Given the description of an element on the screen output the (x, y) to click on. 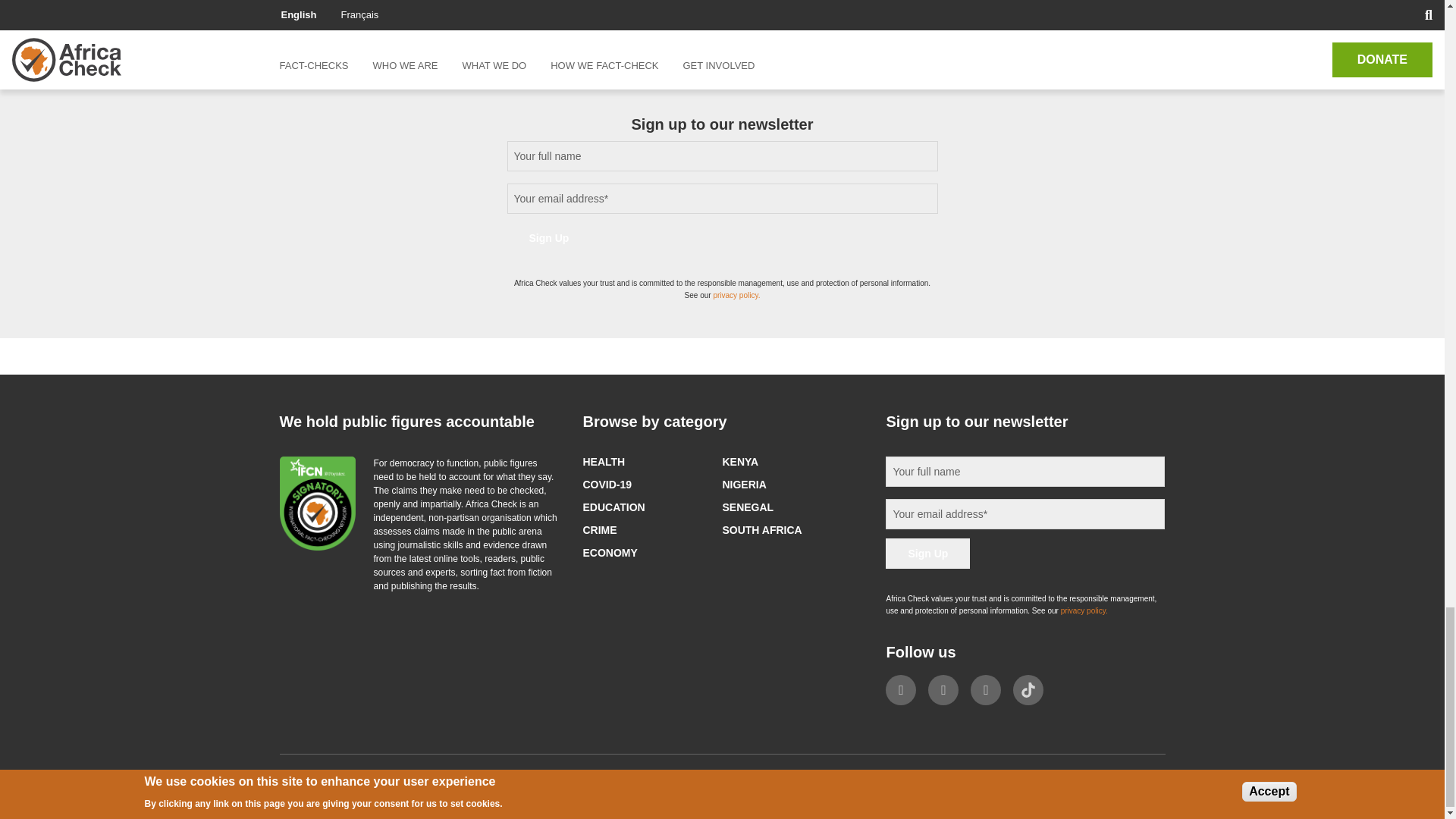
Save (319, 2)
IFCN signatory (317, 503)
Sign Up (927, 553)
Sign Up (548, 237)
